Given the description of an element on the screen output the (x, y) to click on. 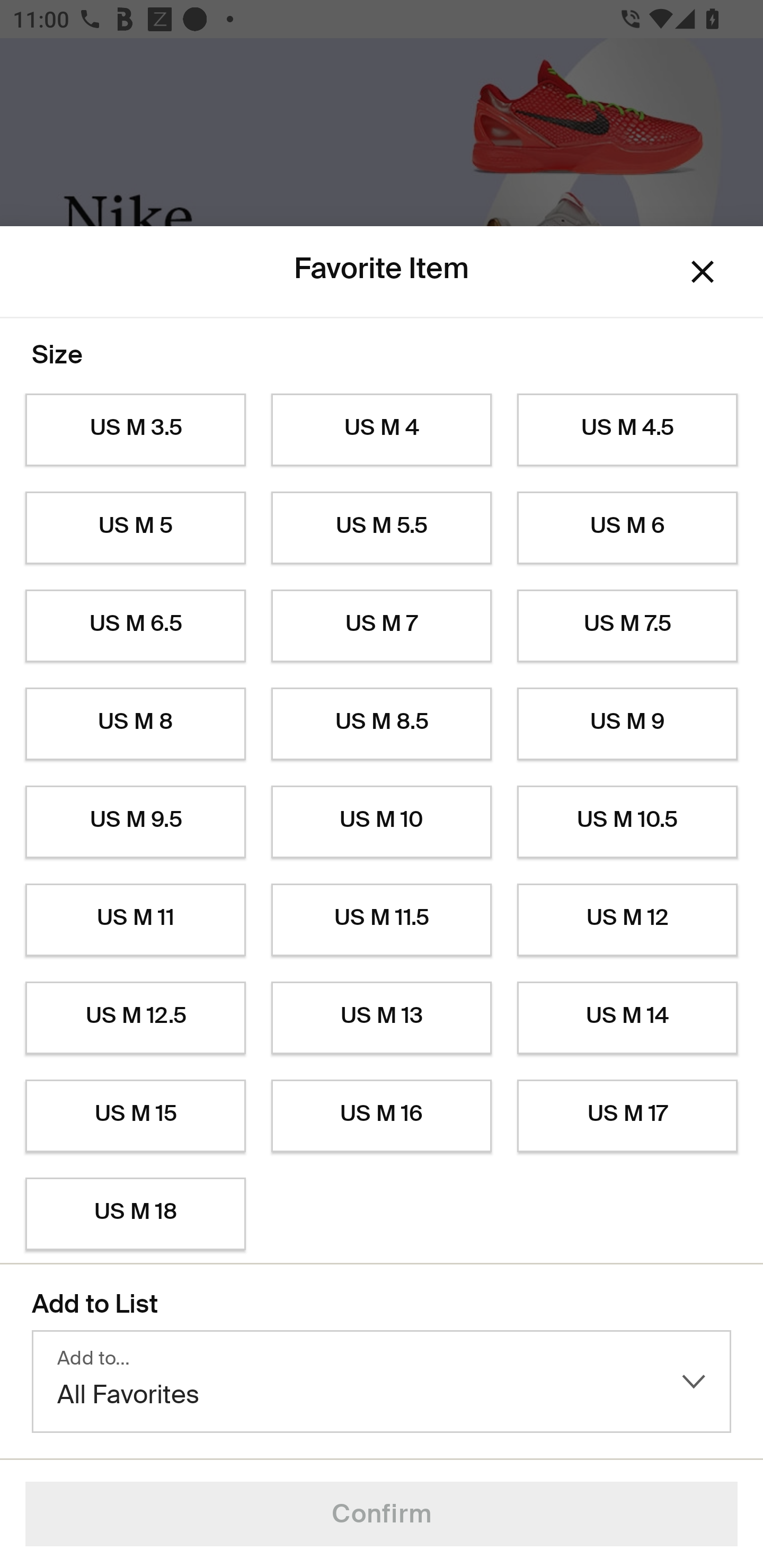
Dismiss (702, 271)
US M 3.5 (135, 430)
US M 4 (381, 430)
US M 4.5 (627, 430)
US M 5 (135, 527)
US M 5.5 (381, 527)
US M 6 (627, 527)
US M 6.5 (135, 626)
US M 7 (381, 626)
US M 7.5 (627, 626)
US M 8 (135, 724)
US M 8.5 (381, 724)
US M 9 (627, 724)
US M 9.5 (135, 822)
US M 10 (381, 822)
US M 10.5 (627, 822)
US M 11 (135, 919)
US M 11.5 (381, 919)
US M 12 (627, 919)
US M 12.5 (135, 1018)
US M 13 (381, 1018)
US M 14 (627, 1018)
US M 15 (135, 1116)
US M 16 (381, 1116)
US M 17 (627, 1116)
US M 18 (135, 1214)
Add to… All Favorites (381, 1381)
Confirm (381, 1513)
